Given the description of an element on the screen output the (x, y) to click on. 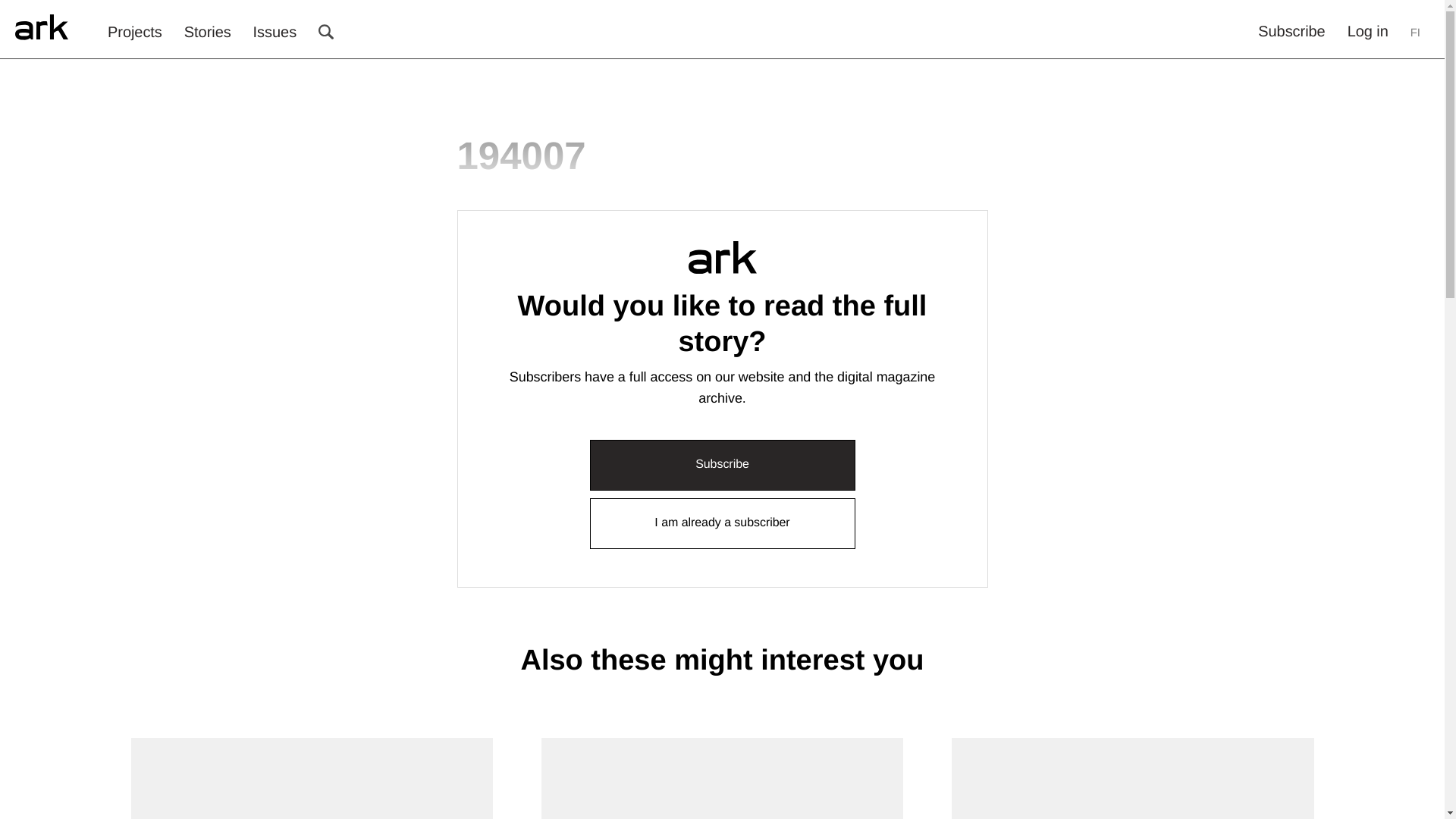
3-Square House (311, 778)
Stories (207, 32)
Issues (275, 32)
Projects (134, 32)
House Y (721, 778)
I am already a subscriber (722, 522)
Log in (1368, 31)
ark (41, 28)
Subscribe (1290, 31)
